Given the description of an element on the screen output the (x, y) to click on. 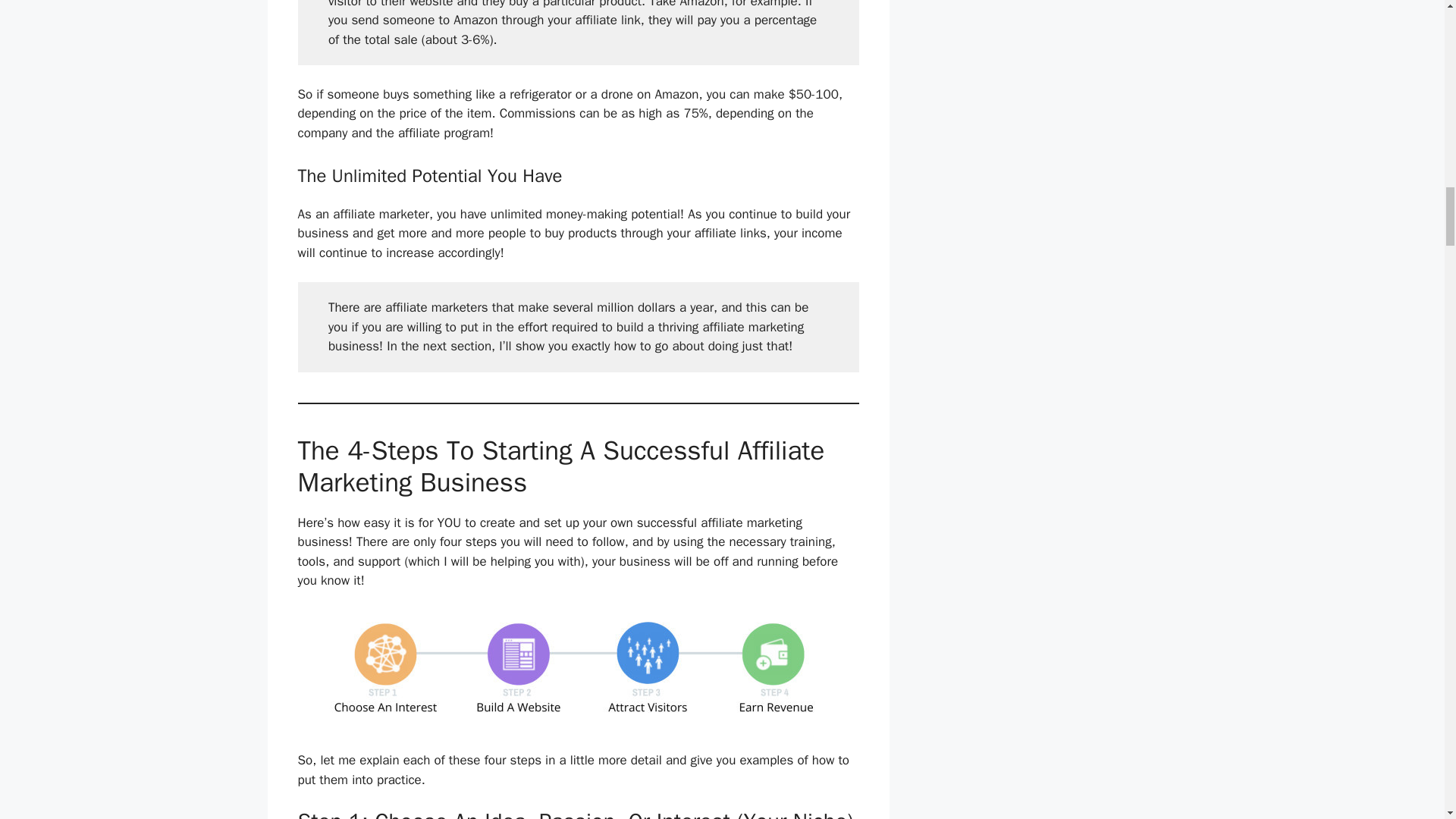
4 Steps to Creating a Business (578, 670)
